Given the description of an element on the screen output the (x, y) to click on. 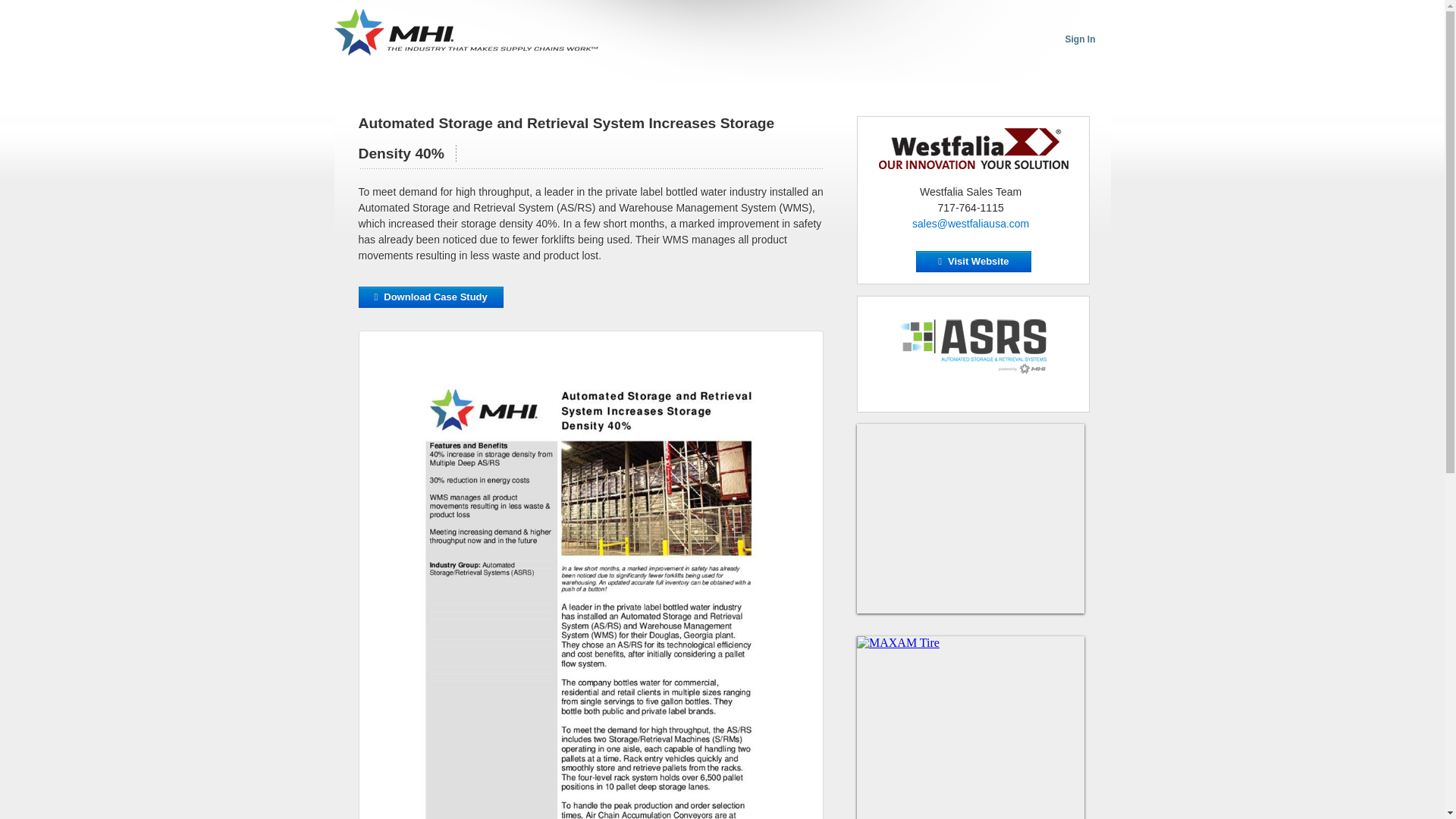
Visit Website (972, 260)
Sign In (1079, 39)
Automated Storage Retrieval Systems (973, 346)
Download Case Study (430, 296)
